Given the description of an element on the screen output the (x, y) to click on. 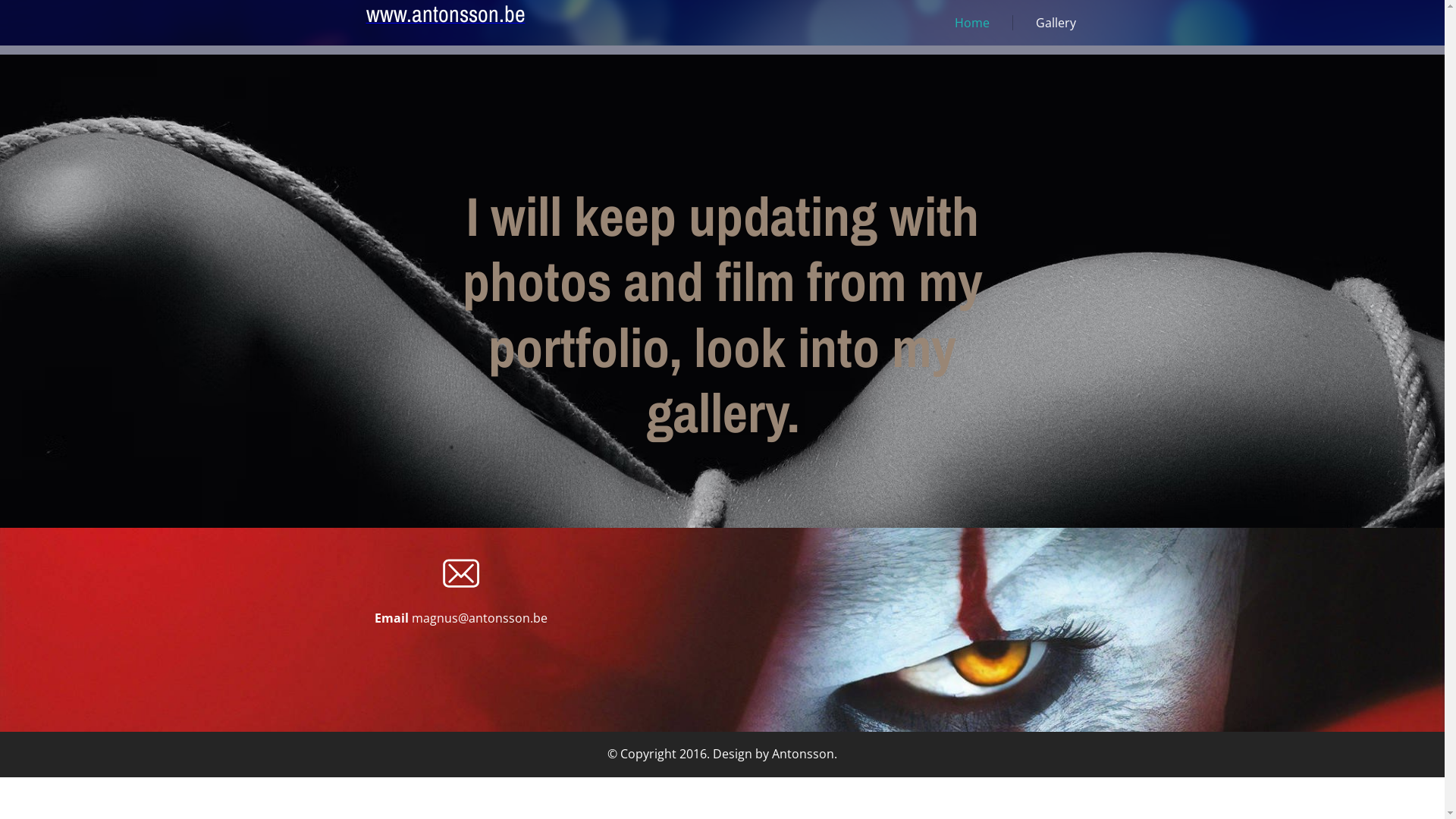
magnus@antonsson.be Element type: text (478, 617)
Home Element type: text (961, 22)
Gallery Element type: text (1046, 22)
www.antonsson.be Element type: text (444, 17)
